Given the description of an element on the screen output the (x, y) to click on. 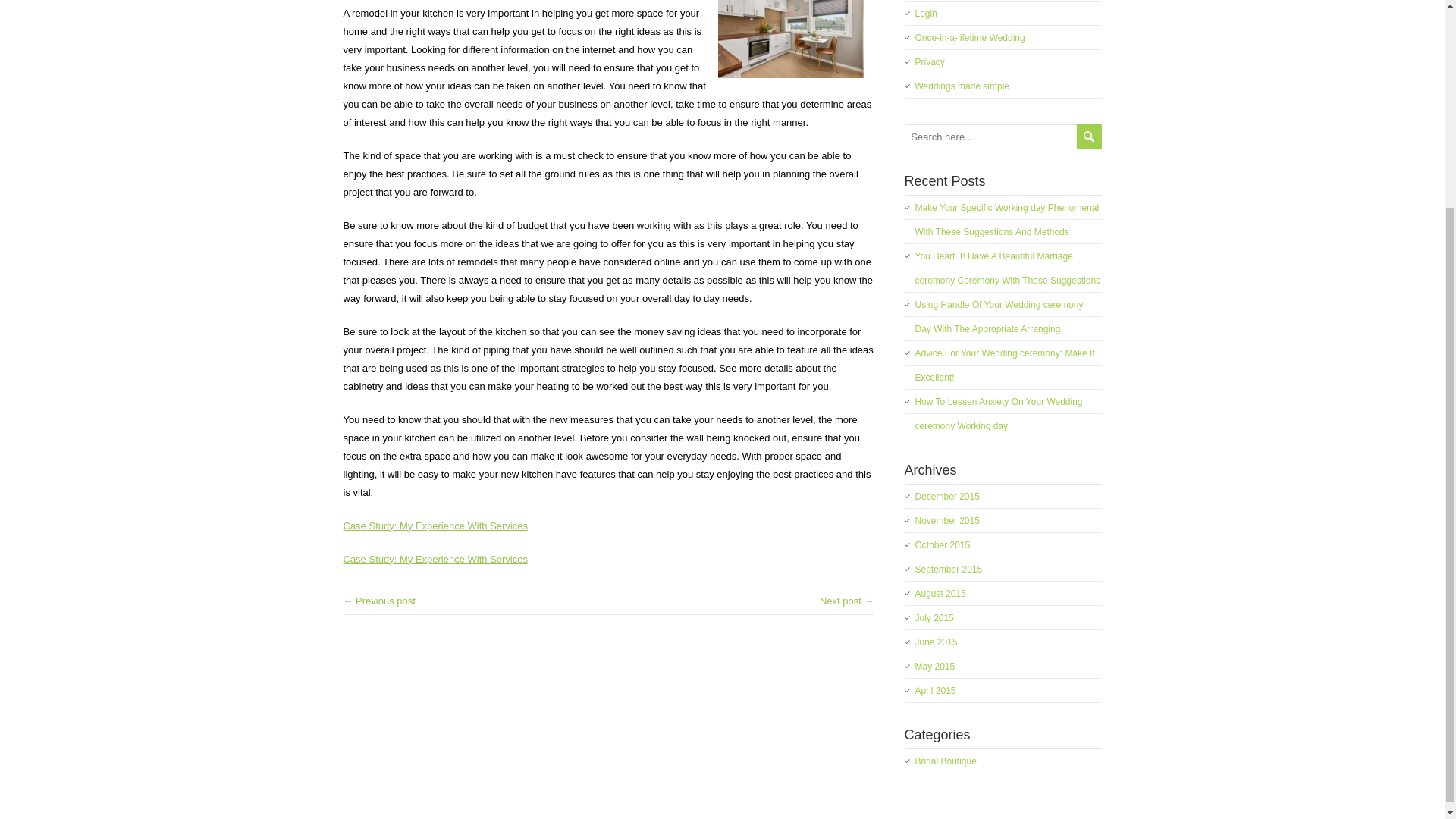
Weddings made simple (961, 86)
November 2015 (946, 520)
Advice For Your Wedding ceremony: Make It Excellent! (1004, 365)
December 2015 (946, 496)
Case Study: My Experience With Services (434, 525)
Case Study: My Experience With Services (434, 559)
August 2015 (939, 593)
Bridal Boutique (944, 760)
Login (925, 13)
